Given the description of an element on the screen output the (x, y) to click on. 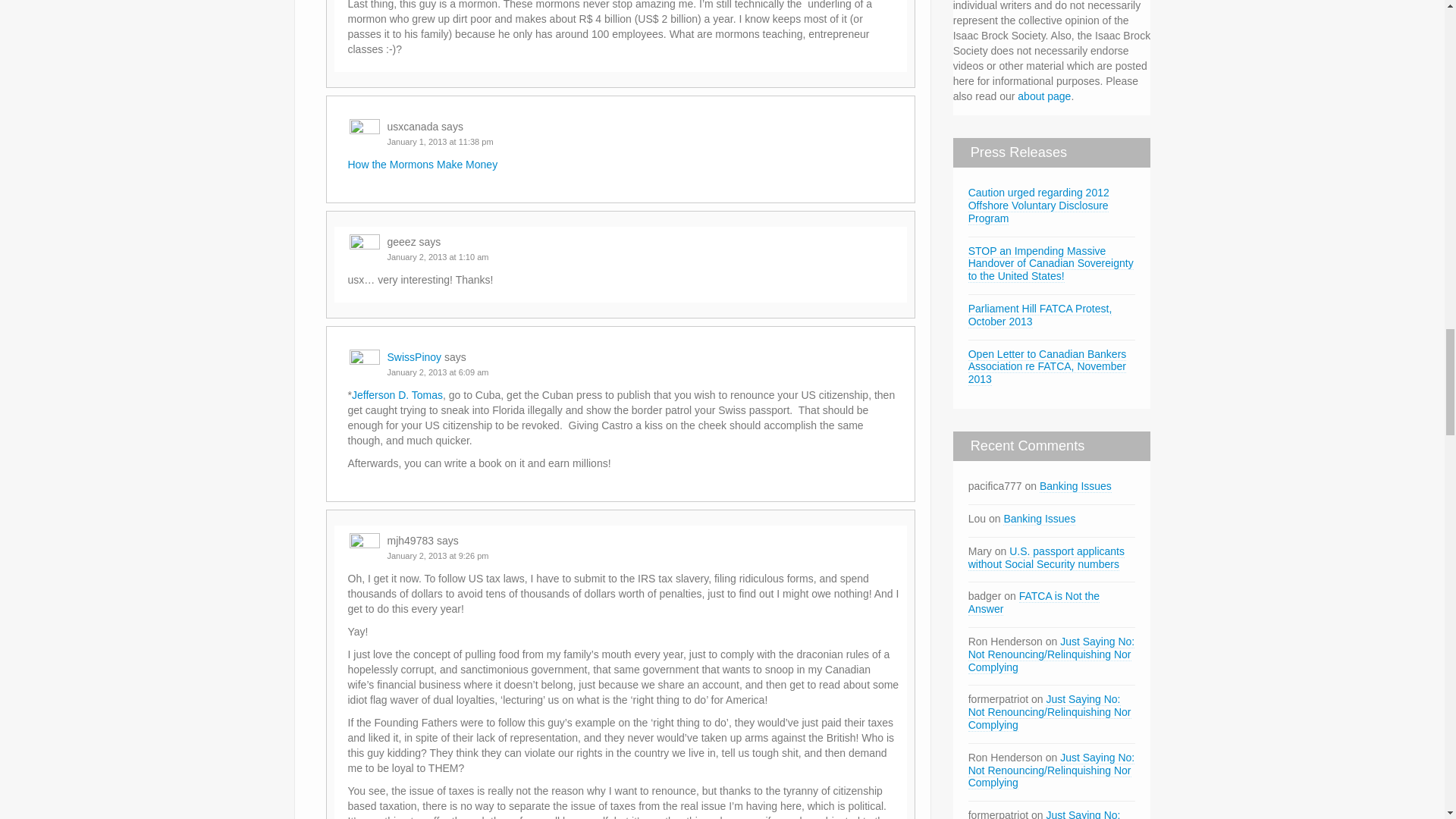
How the Mormons Make Money (422, 164)
January 2, 2013 at 6:09 am (437, 371)
January 2, 2013 at 1:10 am (437, 256)
January 2, 2013 at 9:26 pm (437, 555)
January 1, 2013 at 11:38 pm (440, 141)
SwissPinoy (414, 357)
Jefferson D. Tomas (397, 395)
